Given the description of an element on the screen output the (x, y) to click on. 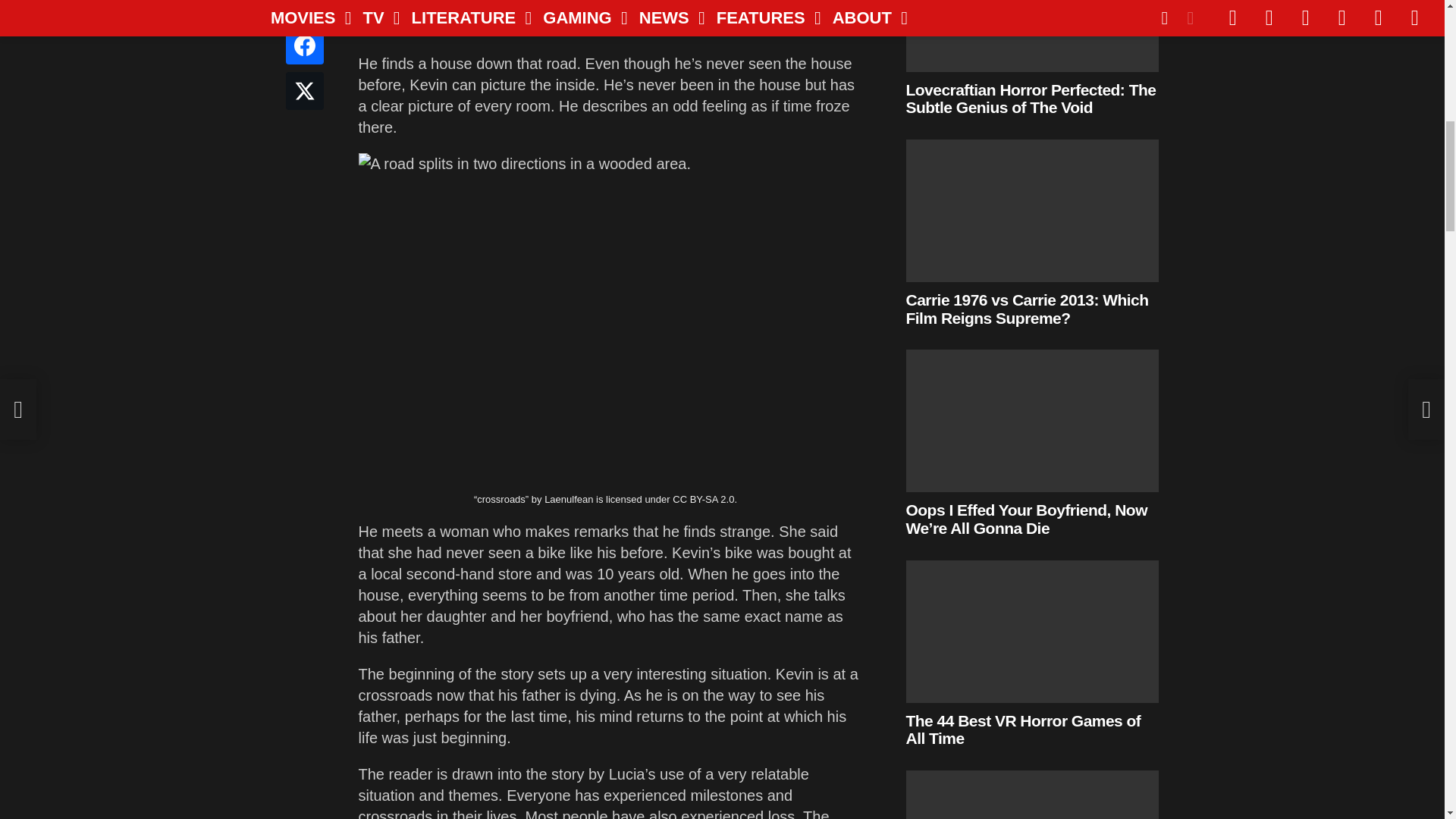
Lovecraftian Horror Perfected: The Subtle Genius of The Void (1031, 36)
The 44 Best VR Horror Games of All Time (1031, 631)
Carrie 1976 vs Carrie 2013: Which Film Reigns Supreme? (1031, 210)
